Given the description of an element on the screen output the (x, y) to click on. 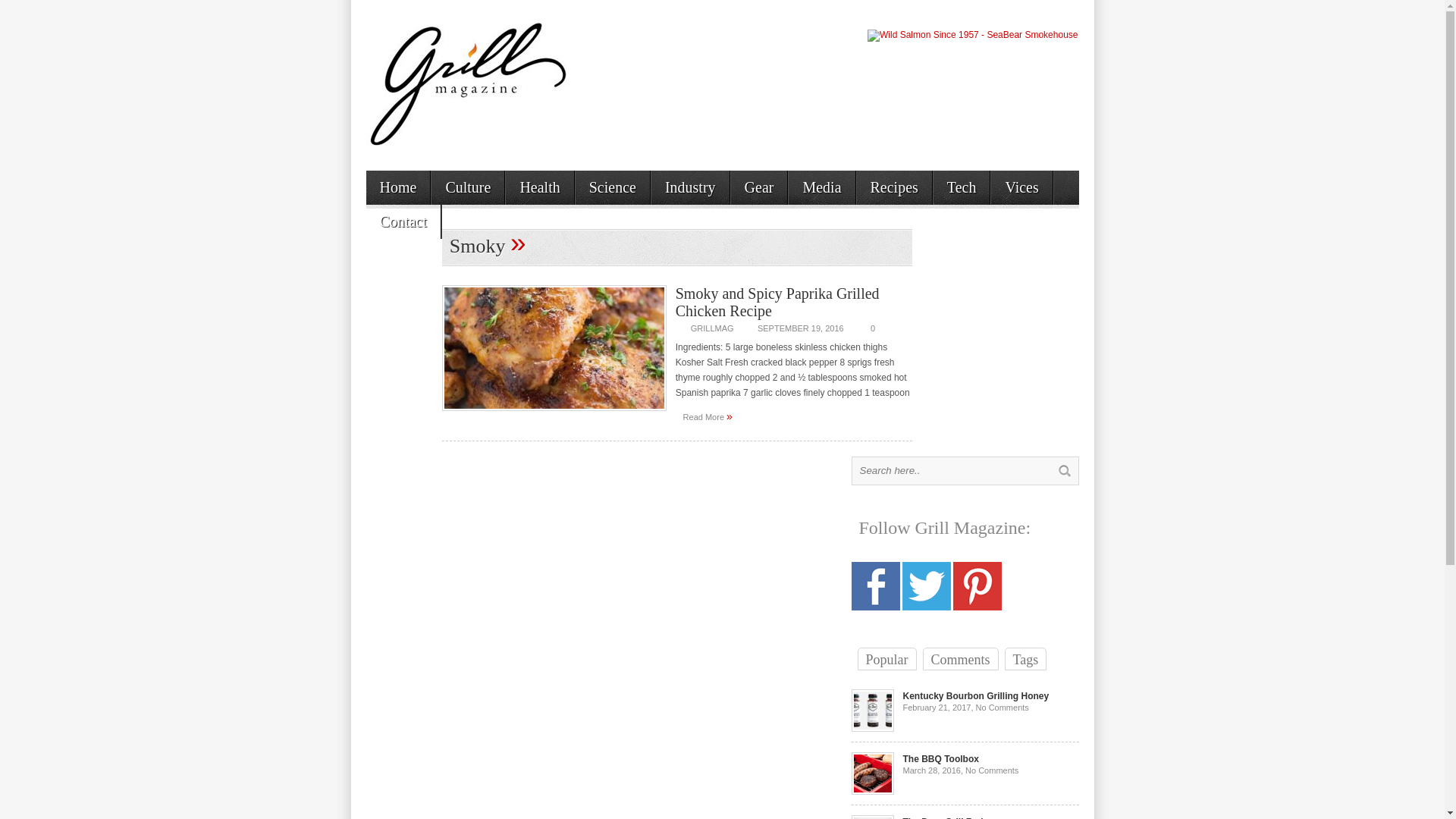
Kentucky Bourbon Grilling Honey (975, 696)
Comments (960, 658)
The Doro Grill Fork (943, 817)
Culture (466, 186)
Smoky and Spicy Paprika Grilled Chicken Recipe (777, 302)
The BBQ Toolbox (940, 758)
The BBQ Toolbox (871, 791)
Kentucky Bourbon Grilling Honey (975, 696)
Smoky and Spicy Paprika Grilled Chicken Recipe (707, 418)
Home (397, 186)
